Given the description of an element on the screen output the (x, y) to click on. 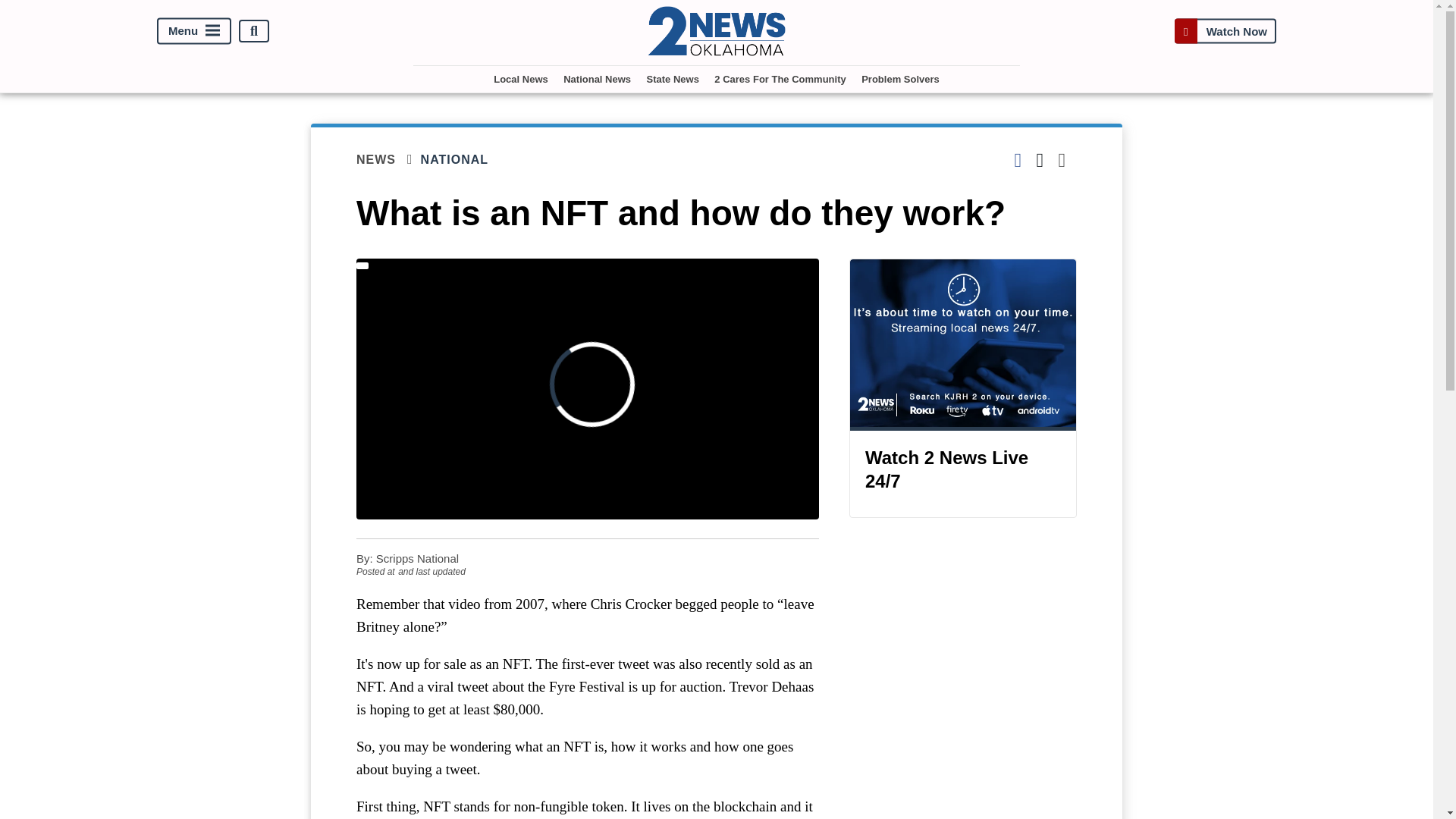
Watch Now (1224, 31)
Menu (194, 31)
